Given the description of an element on the screen output the (x, y) to click on. 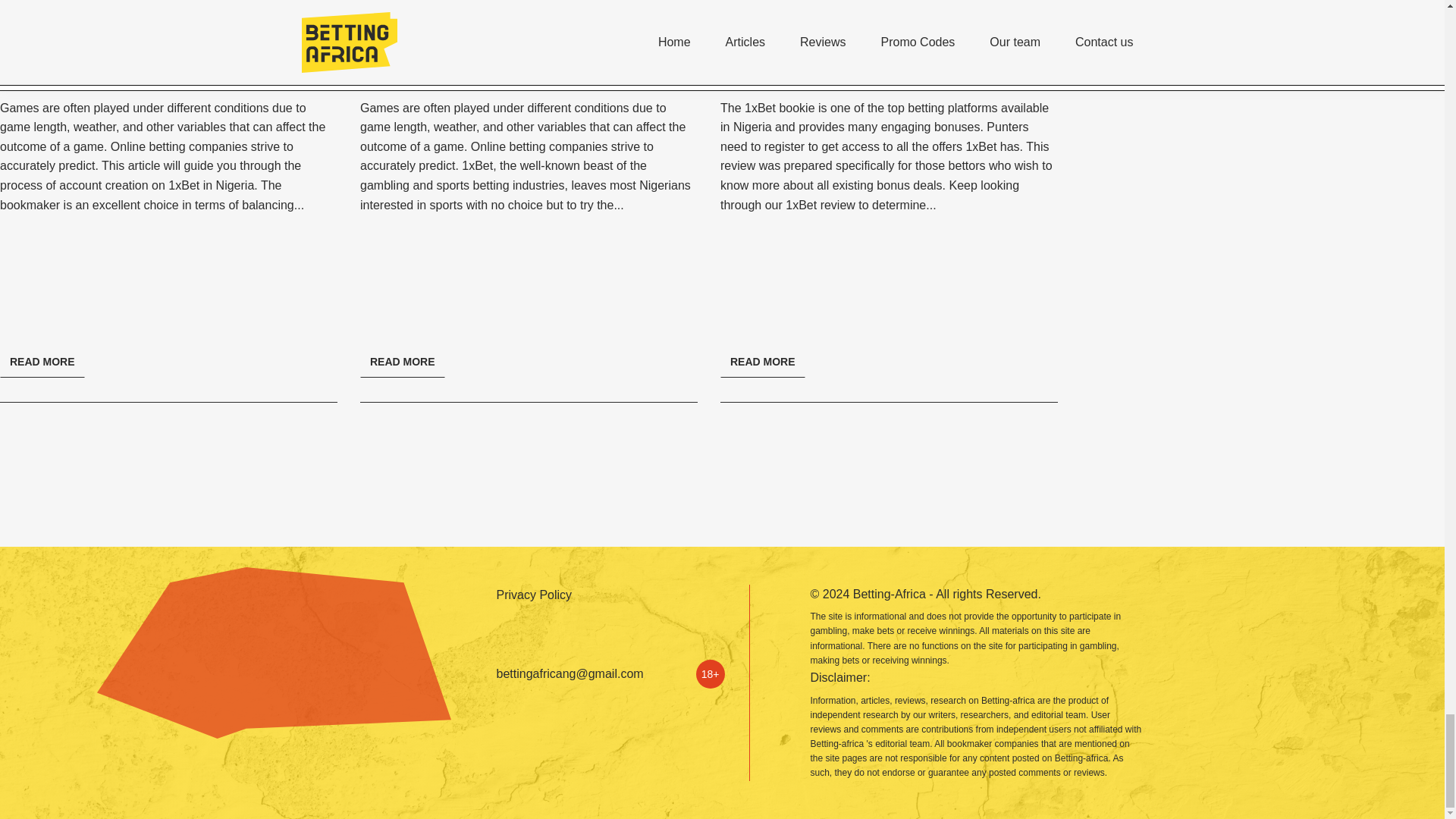
READ MORE (402, 361)
1XBet Login (412, 63)
1XBet Registration Process (119, 63)
1xBet review (821, 205)
1xBet Bonuses in Nigeria (829, 63)
READ MORE (42, 361)
